Given the description of an element on the screen output the (x, y) to click on. 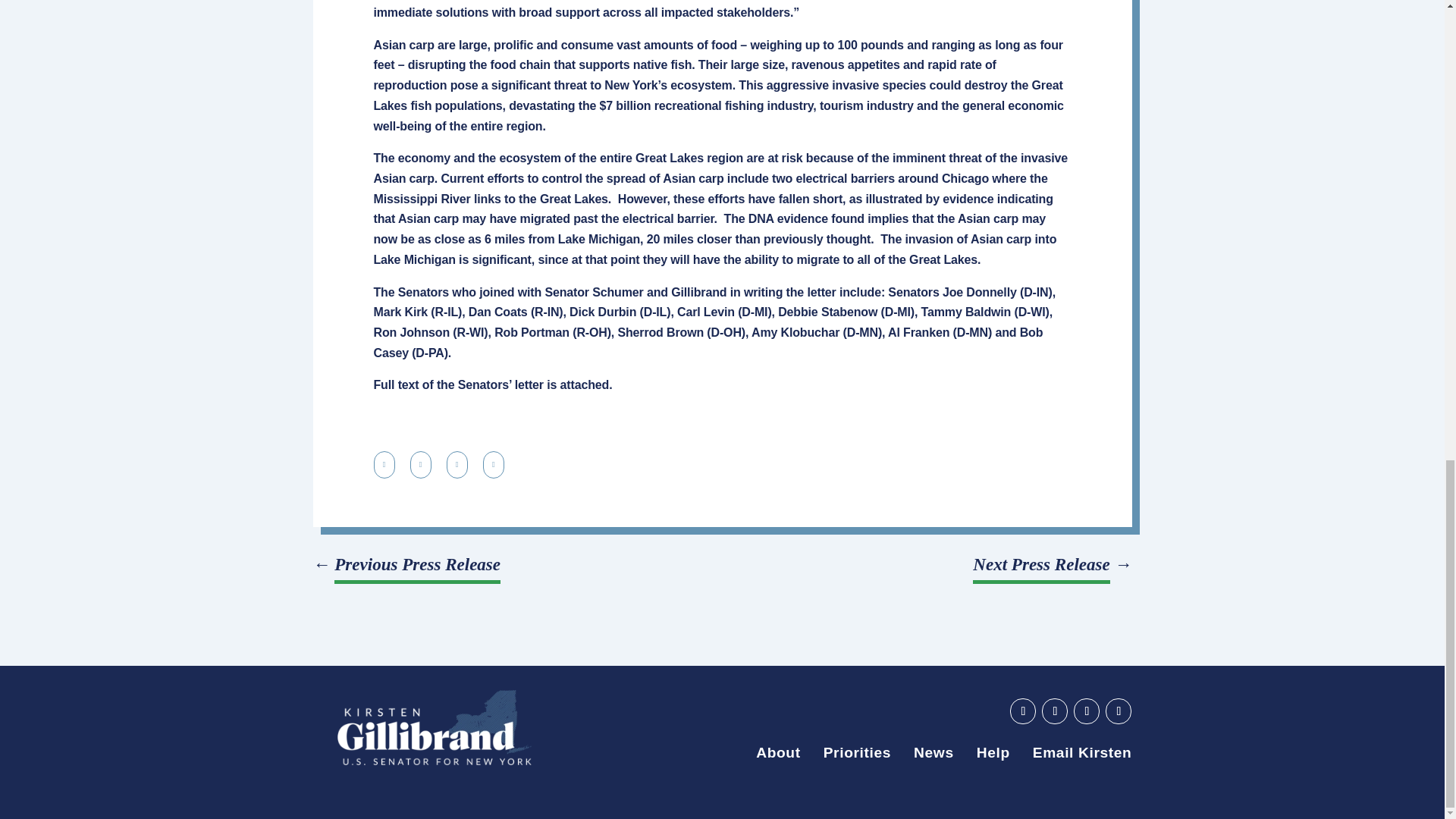
Follow on Instagram (1118, 710)
Follow on Facebook (1054, 710)
Follow on Youtube (1022, 710)
gillibrand-logo (434, 727)
Follow on Twitter (1086, 710)
